Given the description of an element on the screen output the (x, y) to click on. 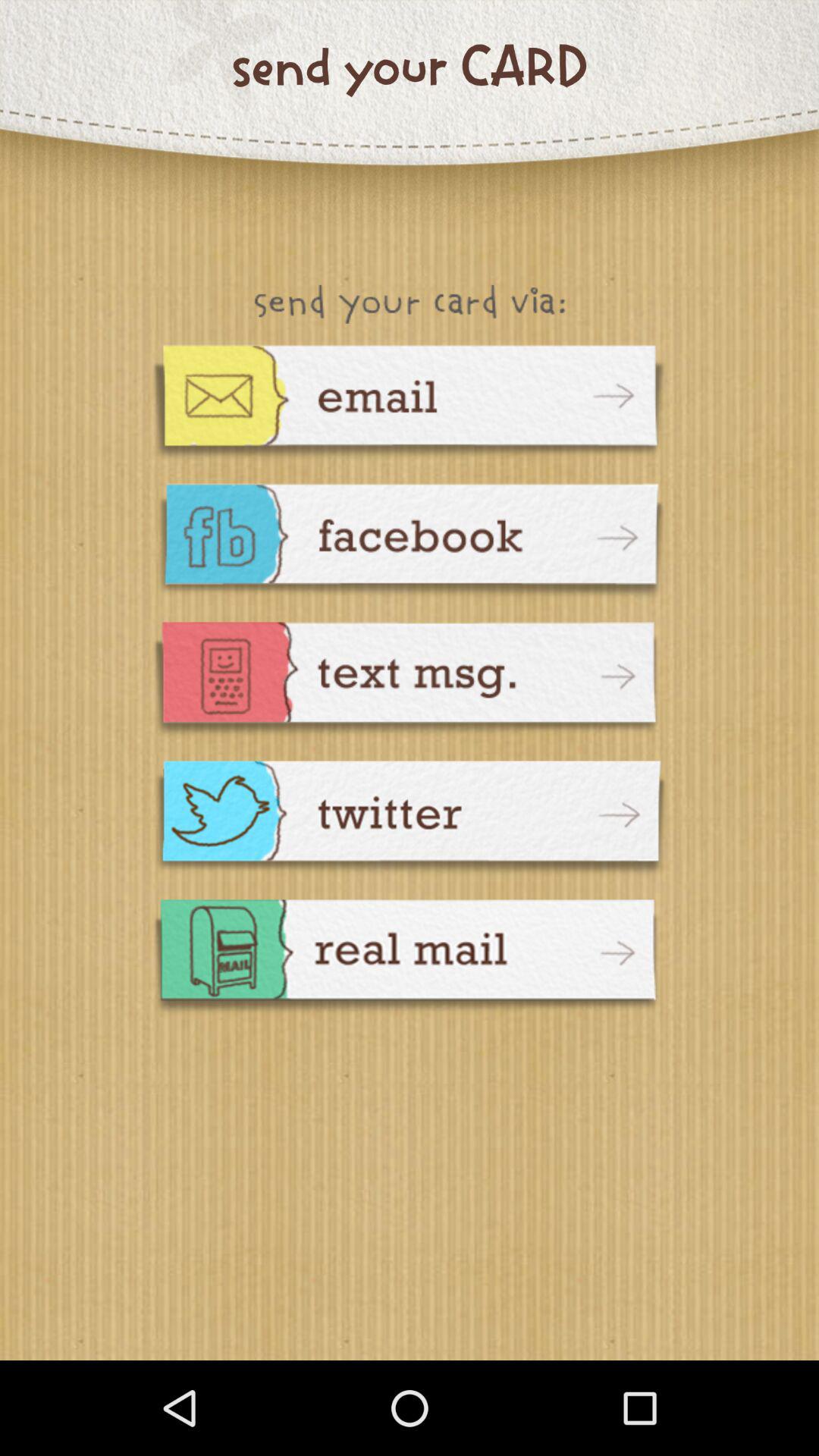
share through facebook (409, 542)
